Given the description of an element on the screen output the (x, y) to click on. 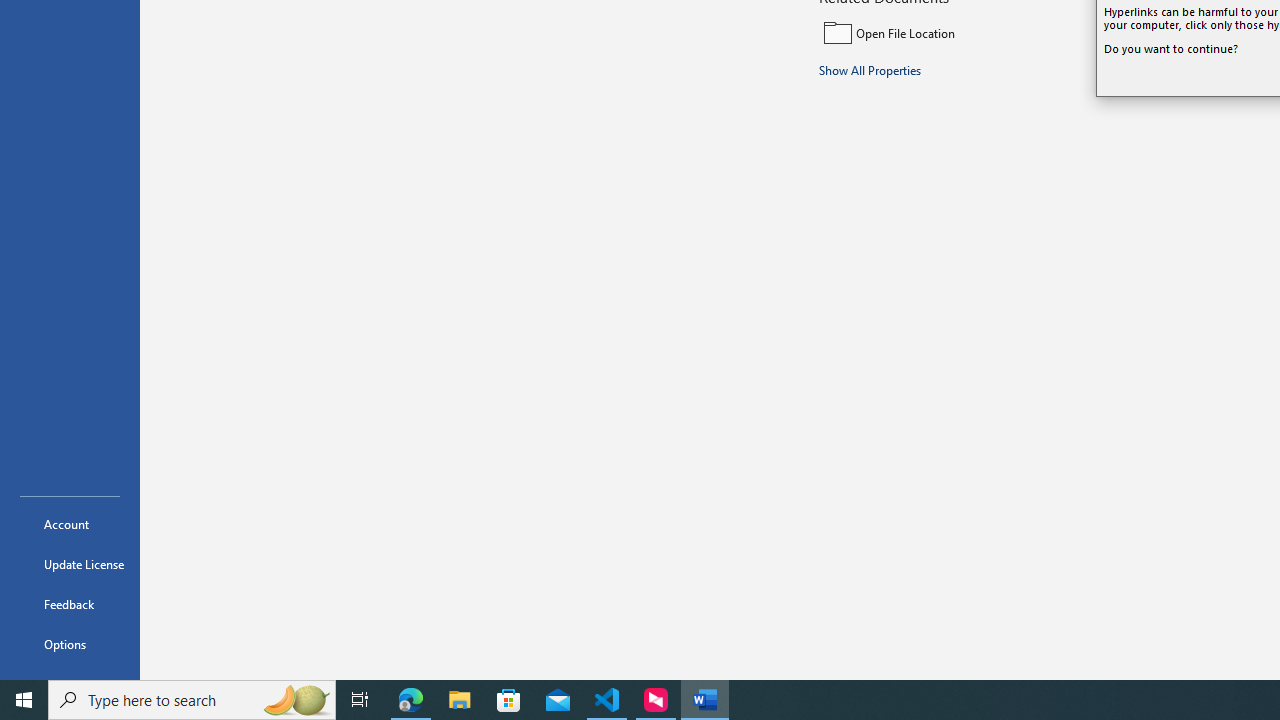
Word - 1 running window (704, 699)
